Given the description of an element on the screen output the (x, y) to click on. 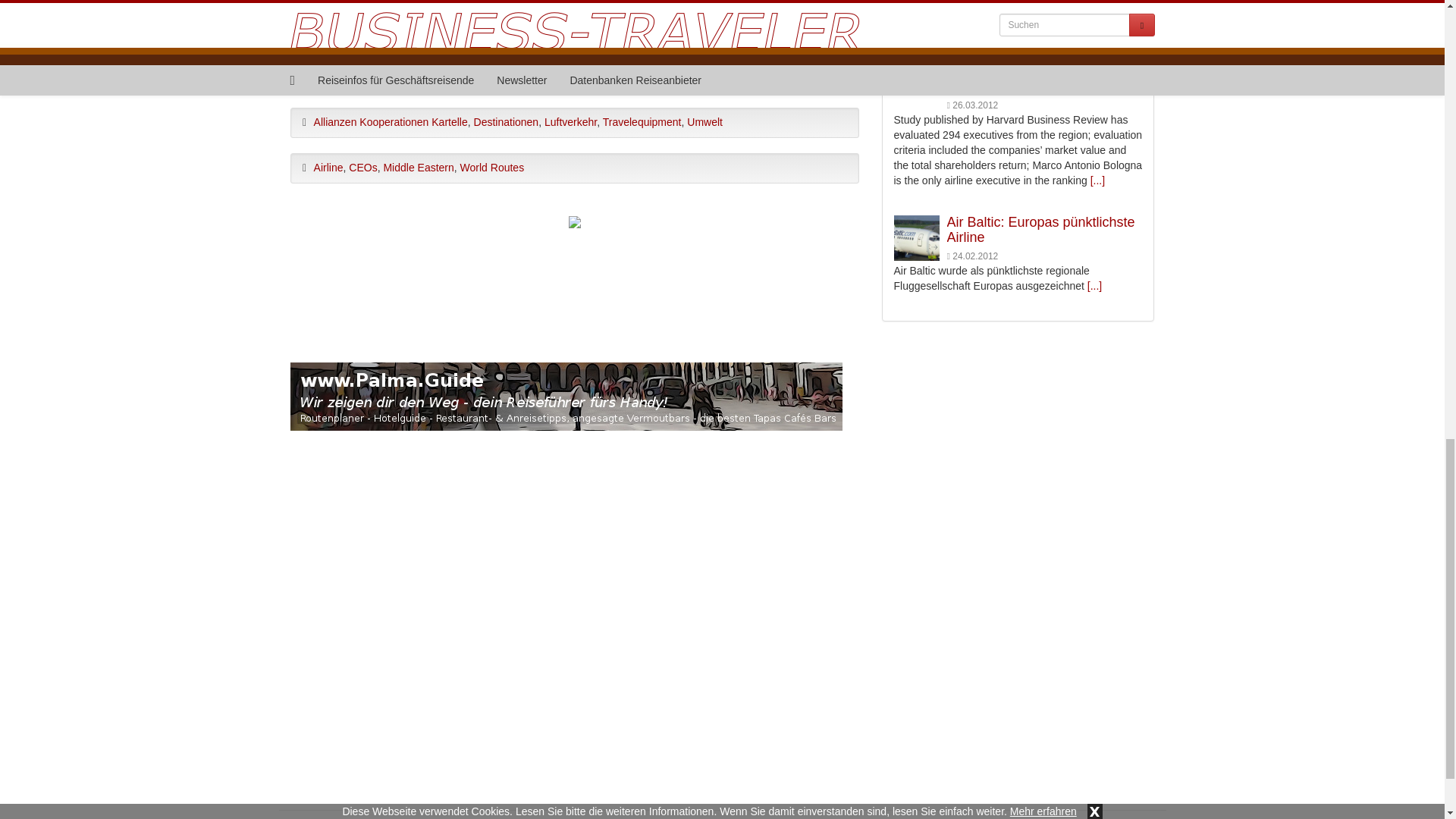
Advertisement (574, 278)
Airline (328, 167)
Travelequipment (641, 121)
Luftverkehr (570, 121)
CEOs (363, 167)
Middle Eastern (417, 167)
Destinationen (506, 121)
Umwelt (704, 121)
World Routes (492, 167)
Allianzen Kooperationen Kartelle (390, 121)
